Given the description of an element on the screen output the (x, y) to click on. 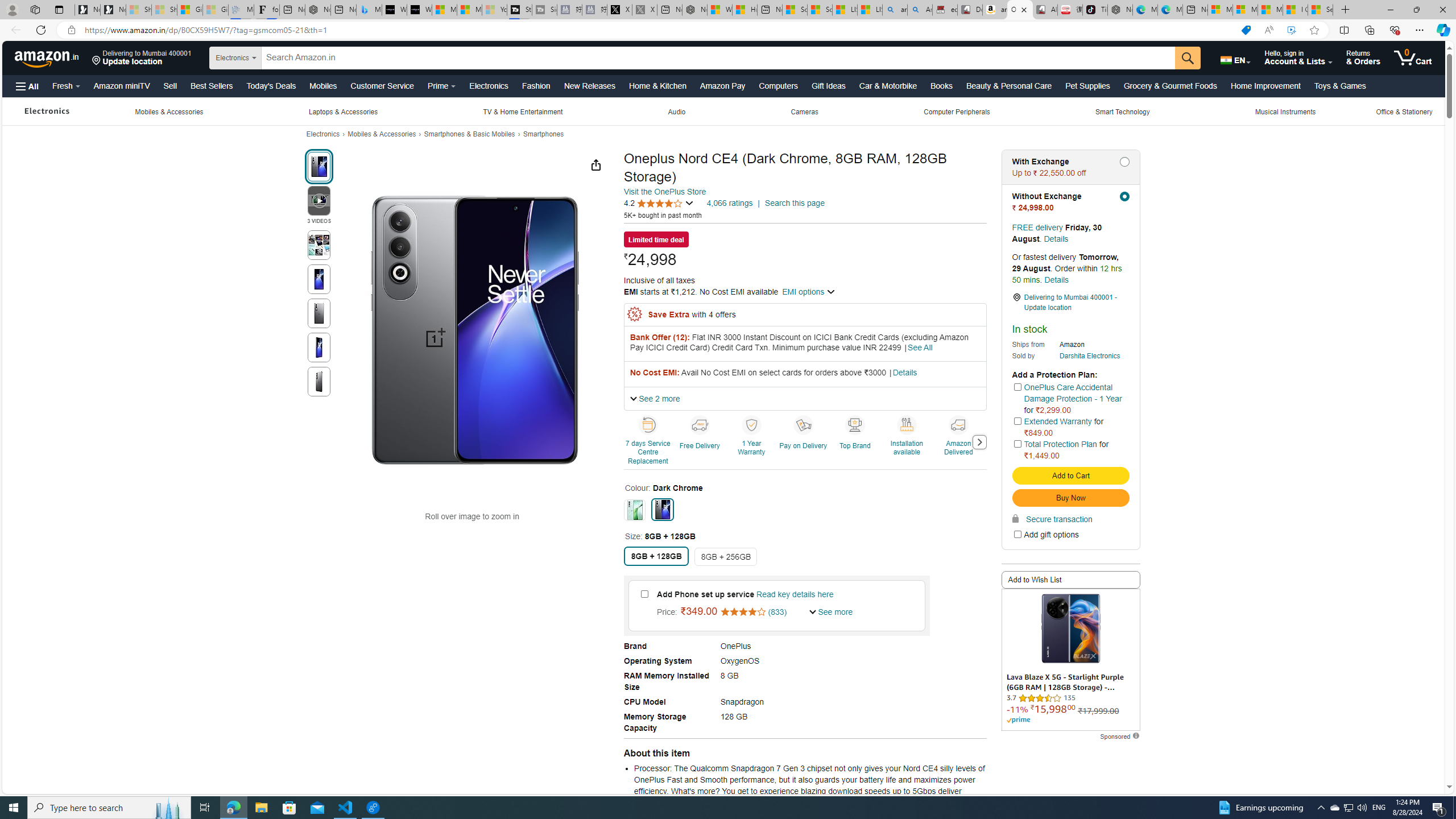
Smartphones & Basic Mobiles (469, 134)
Visit the OnePlus Store (664, 191)
8GB + 256GB (725, 556)
Wildlife - MSN (718, 9)
Top Brand (855, 441)
Smartphones (543, 134)
Prime (441, 85)
Microsoft Start Sports (443, 9)
Newsletter Sign Up (113, 9)
Dark Chrome (662, 509)
Smartphones (543, 134)
Hello, sign in Account & Lists (1298, 57)
